Given the description of an element on the screen output the (x, y) to click on. 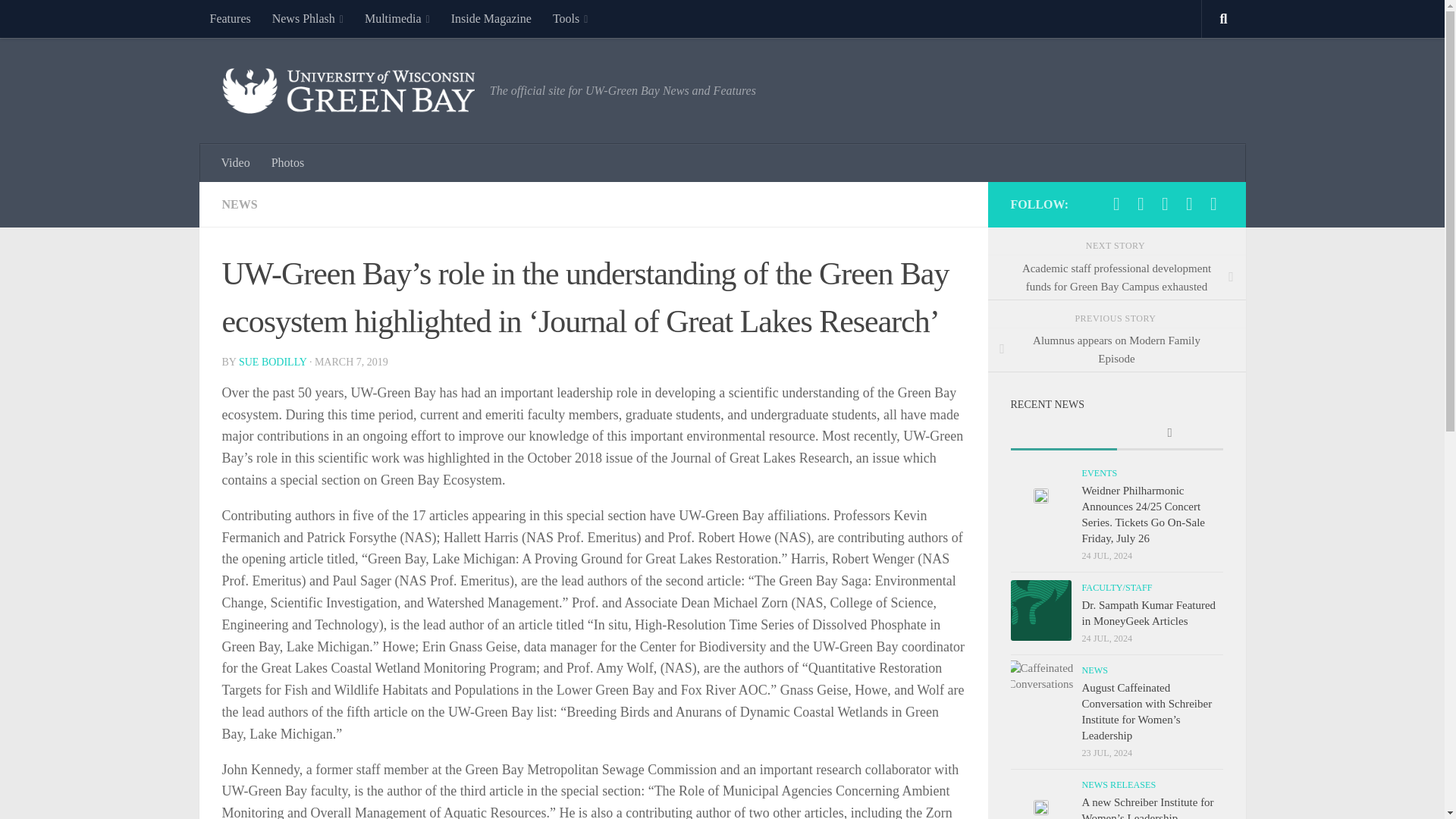
News Phlash (307, 18)
Email (1213, 203)
Twitter (1140, 203)
Features (229, 18)
Multimedia (397, 18)
Tags (1169, 433)
Tools (569, 18)
Posts by Sue Bodilly (271, 361)
Facebook (1115, 203)
Recent Posts (1063, 433)
NEWS (239, 204)
Photos (287, 162)
Flickr (1164, 203)
YouTube (1188, 203)
SUE BODILLY (271, 361)
